Given the description of an element on the screen output the (x, y) to click on. 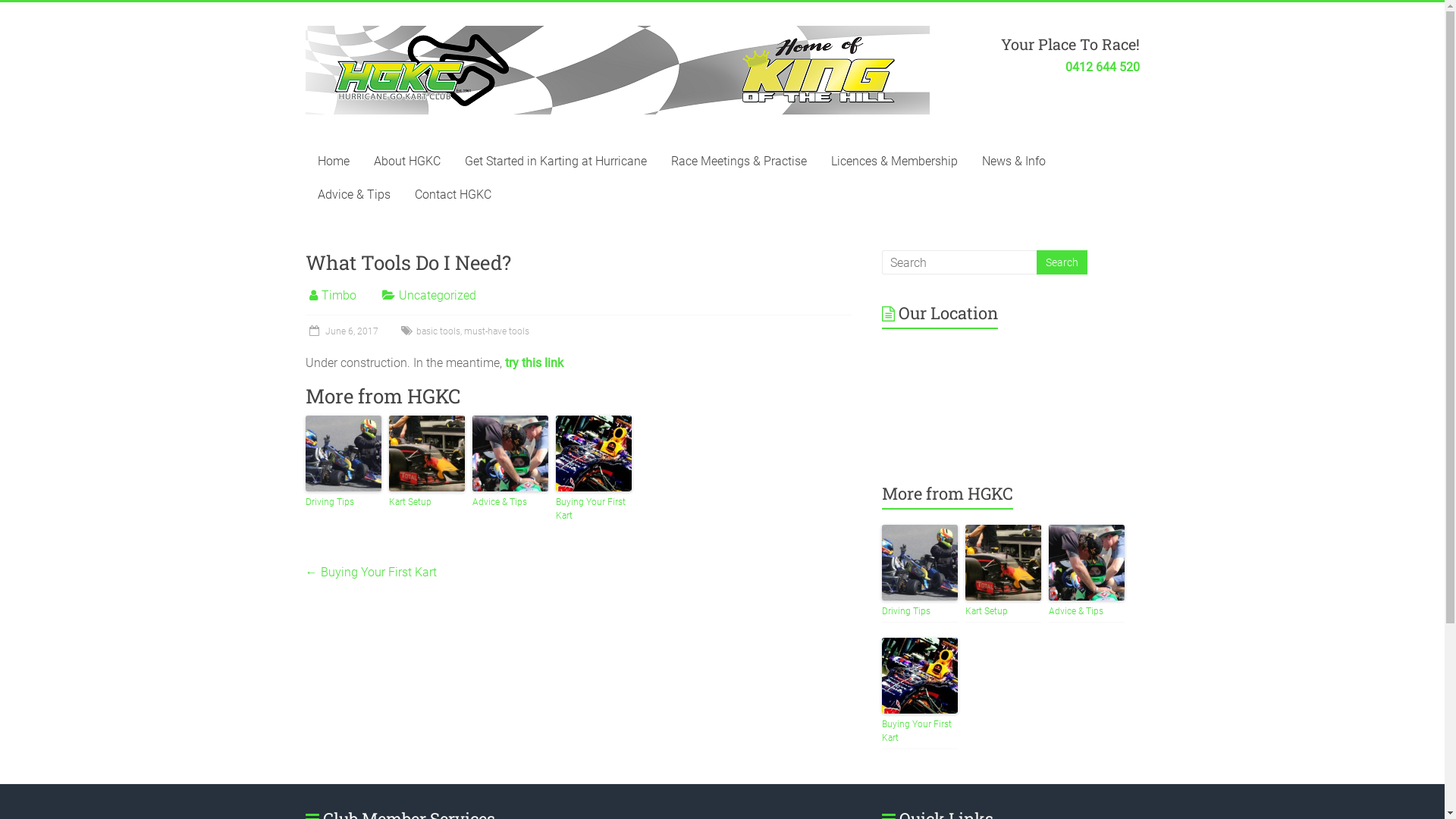
try this link Element type: text (534, 362)
Driving Tips Element type: text (919, 611)
Home Element type: text (332, 161)
0412 644 520 Element type: text (1101, 66)
Get Started in Karting at Hurricane Element type: text (554, 161)
must-have tools Element type: text (496, 331)
June 6, 2017 Element type: text (340, 331)
Advice & Tips Element type: text (509, 501)
Contact HGKC Element type: text (451, 194)
Kart Setup Element type: text (1003, 611)
Advice & Tips Element type: text (352, 194)
Driving Tips Element type: text (342, 501)
Buying Your First Kart Element type: text (592, 508)
Buying Your First Kart Element type: text (919, 730)
Uncategorized Element type: text (437, 295)
Search Element type: text (1060, 262)
Advice & Tips Element type: text (1086, 611)
Licences & Membership Element type: text (894, 161)
basic tools Element type: text (437, 331)
News & Info Element type: text (1013, 161)
About HGKC Element type: text (405, 161)
Hurricane Go Kart Club Element type: text (370, 90)
Kart Setup Element type: text (426, 501)
Race Meetings & Practise Element type: text (738, 161)
Timbo Element type: text (338, 295)
